Given the description of an element on the screen output the (x, y) to click on. 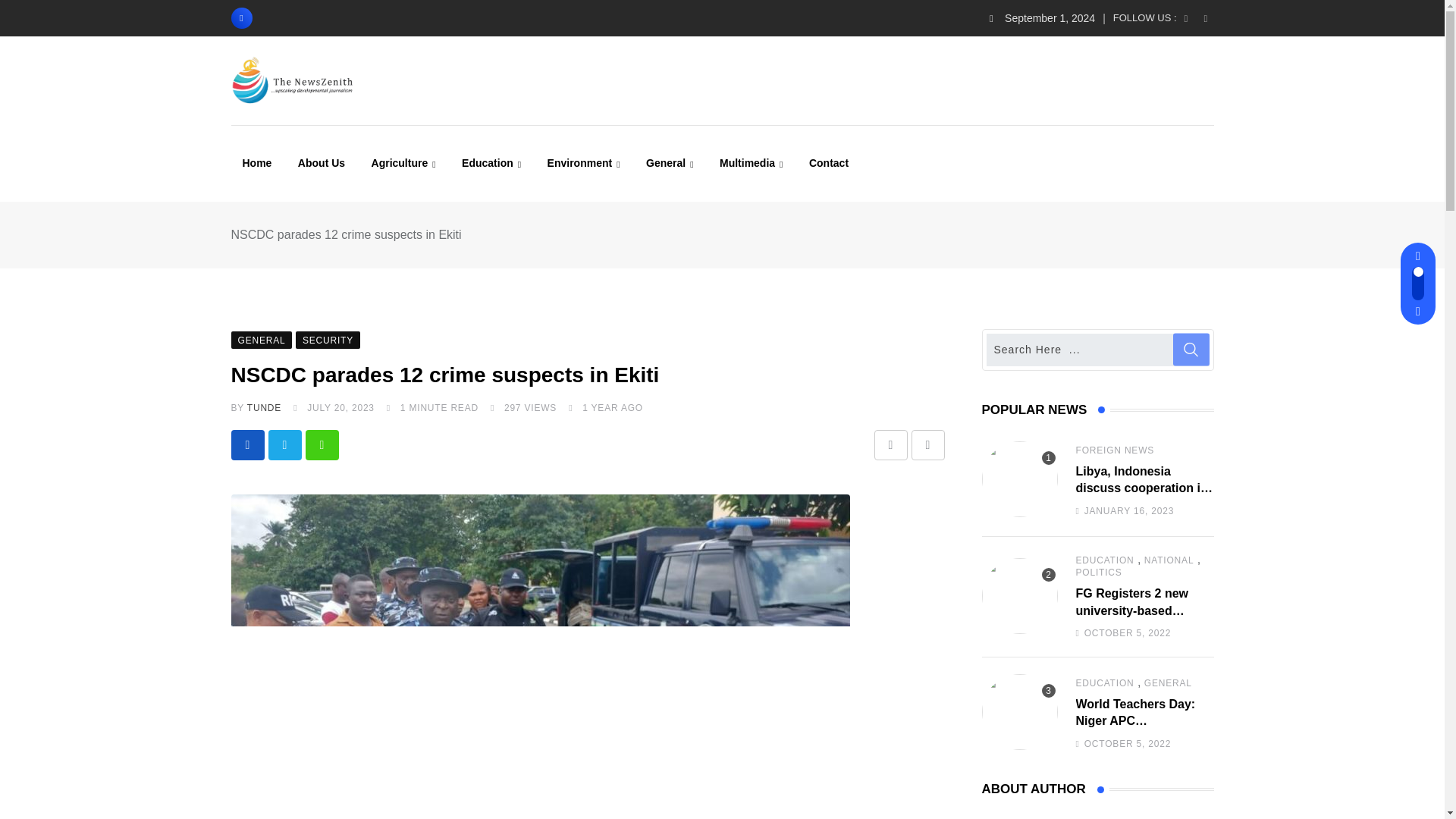
FG Registers 2 new university-based unions (1019, 595)
About Us (321, 162)
Posts by Tunde (264, 407)
Libya, Indonesia discuss cooperation in healthcare (1019, 478)
Agriculture (402, 163)
Education (490, 163)
